Given the description of an element on the screen output the (x, y) to click on. 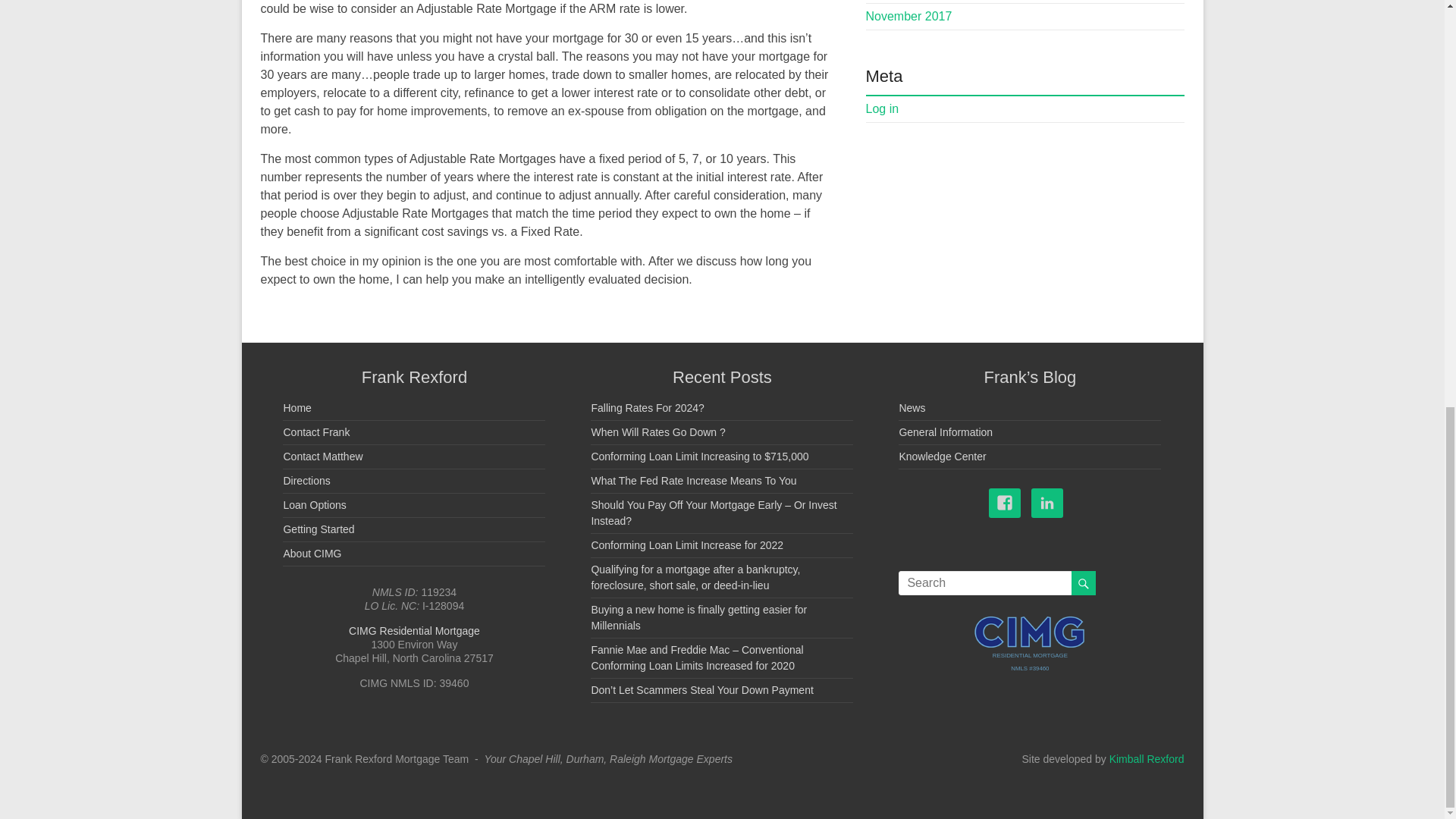
Contact Frank (315, 431)
Loan Options (314, 504)
Directions (306, 480)
CIMG Residential Mortgage (414, 630)
Getting Started (317, 529)
About CIMG (311, 553)
November 2017 (909, 15)
Contact Matthew (322, 456)
Falling Rates For 2024? (647, 408)
Log in (882, 108)
